Given the description of an element on the screen output the (x, y) to click on. 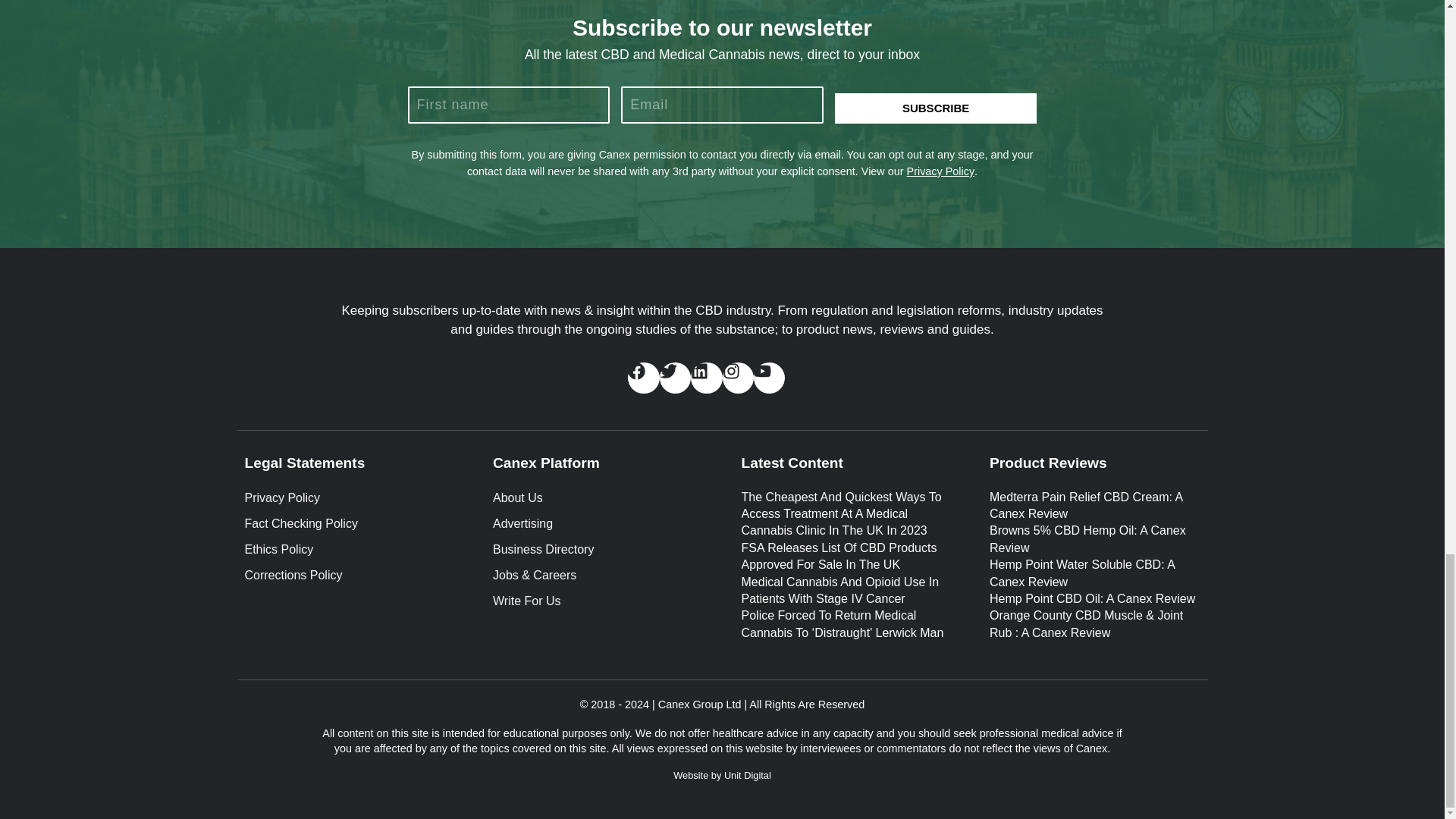
SUBSCRIBE (935, 108)
Unit Digital (747, 775)
Advertising (598, 524)
Fact Checking Policy (349, 524)
Privacy Policy (941, 171)
Corrections Policy (349, 575)
Privacy Policy (349, 497)
Hemp Point Water Soluble CBD: A Canex Review (1082, 572)
About Us (598, 497)
Business Directory (598, 549)
Write For Us (598, 601)
Ethics Policy (349, 549)
Digital Marketing Sheffield (747, 775)
